Given the description of an element on the screen output the (x, y) to click on. 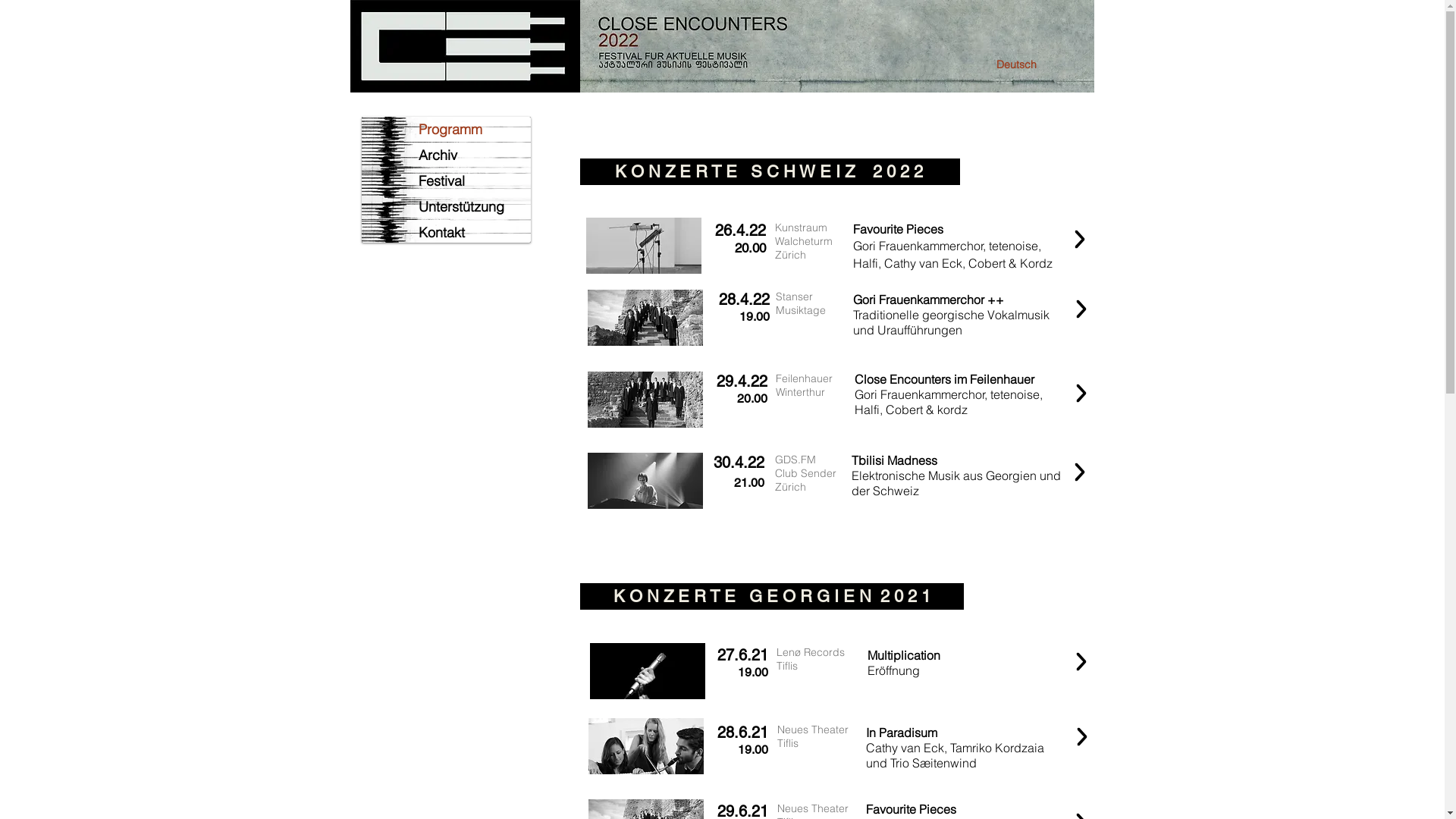
Programm Element type: text (474, 129)
Kontakt Element type: text (474, 232)
Deutsch Element type: text (1016, 64)
Archiv Element type: text (474, 155)
Festival Element type: text (474, 181)
